Given the description of an element on the screen output the (x, y) to click on. 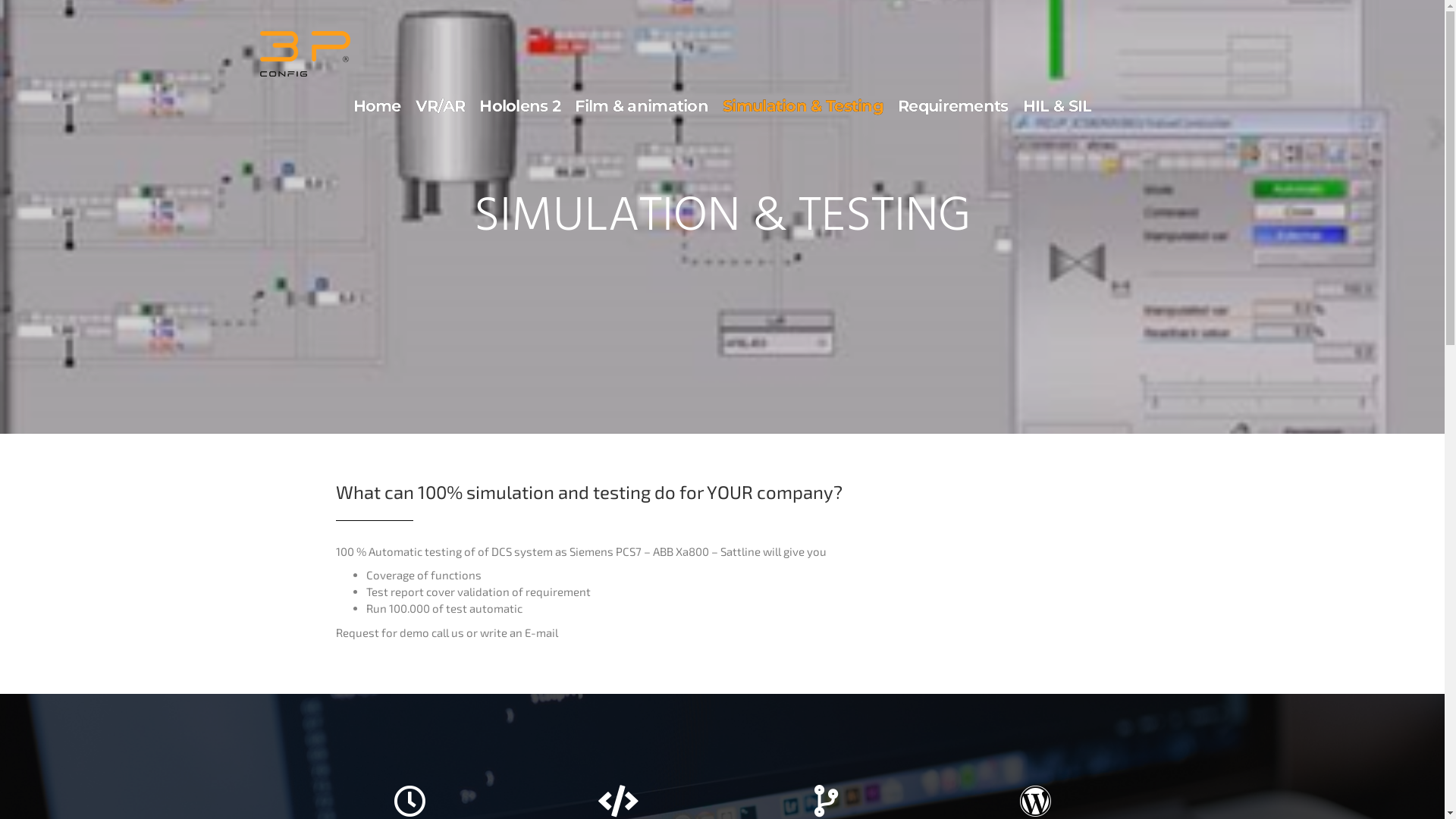
Hololens 2 Element type: text (519, 105)
Film & animation Element type: text (641, 105)
VR/AR Element type: text (440, 105)
Home Element type: text (376, 105)
Simulation & Testing Element type: text (802, 105)
Requirements Element type: text (953, 105)
HIL & SIL Element type: text (1057, 105)
3pconfig Element type: hover (304, 54)
